Given the description of an element on the screen output the (x, y) to click on. 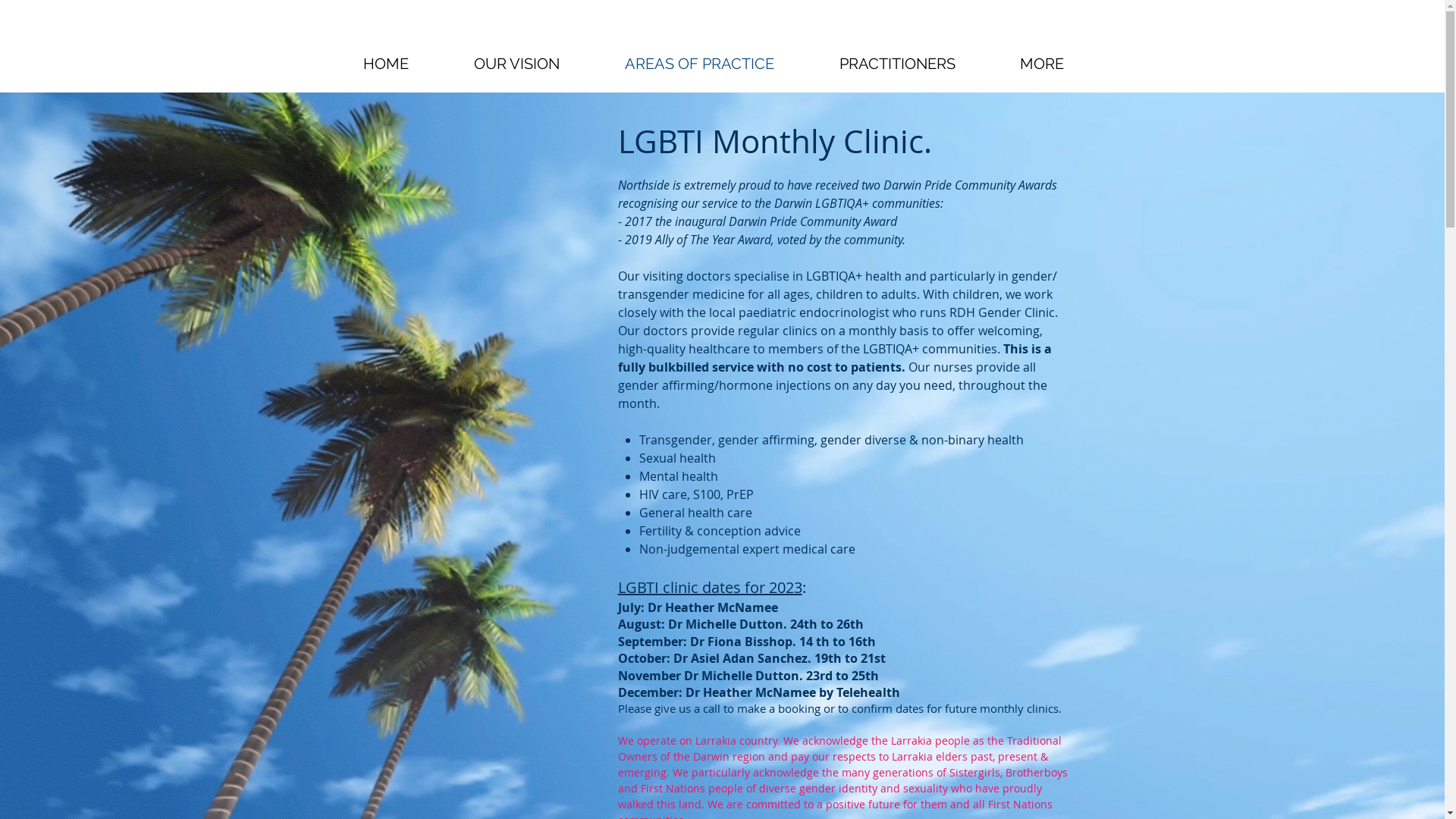
OUR VISION Element type: text (516, 63)
PRACTITIONERS Element type: text (897, 63)
AREAS OF PRACTICE Element type: text (698, 63)
HOME Element type: text (385, 63)
